Given the description of an element on the screen output the (x, y) to click on. 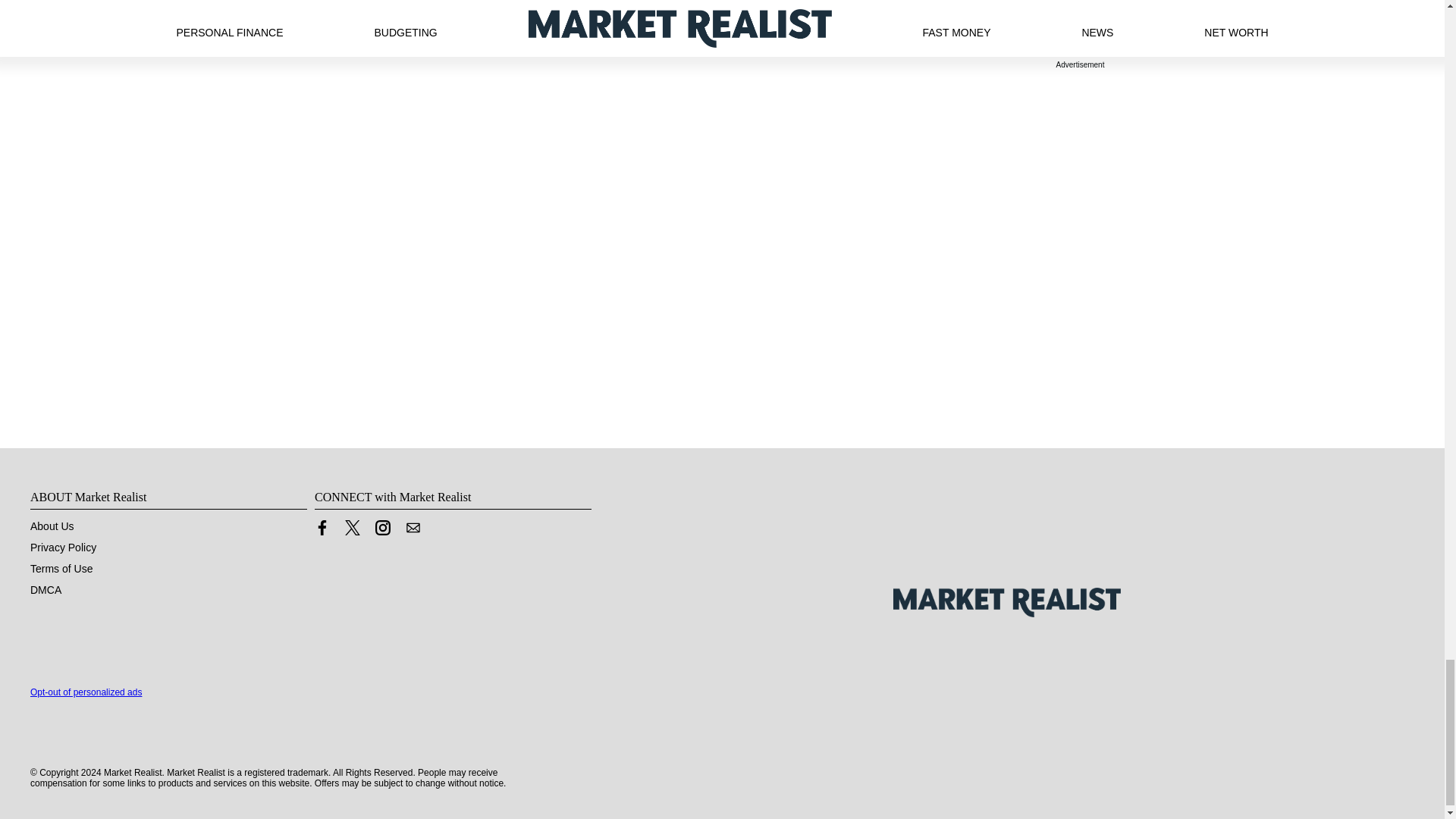
About Us (52, 526)
Link to X (352, 531)
Contact us by Email (413, 531)
Link to Instagram (382, 527)
Link to X (352, 527)
Link to Facebook (322, 531)
Privacy Policy (63, 547)
DMCA (45, 589)
About Us (52, 526)
Privacy Policy (63, 547)
